Given the description of an element on the screen output the (x, y) to click on. 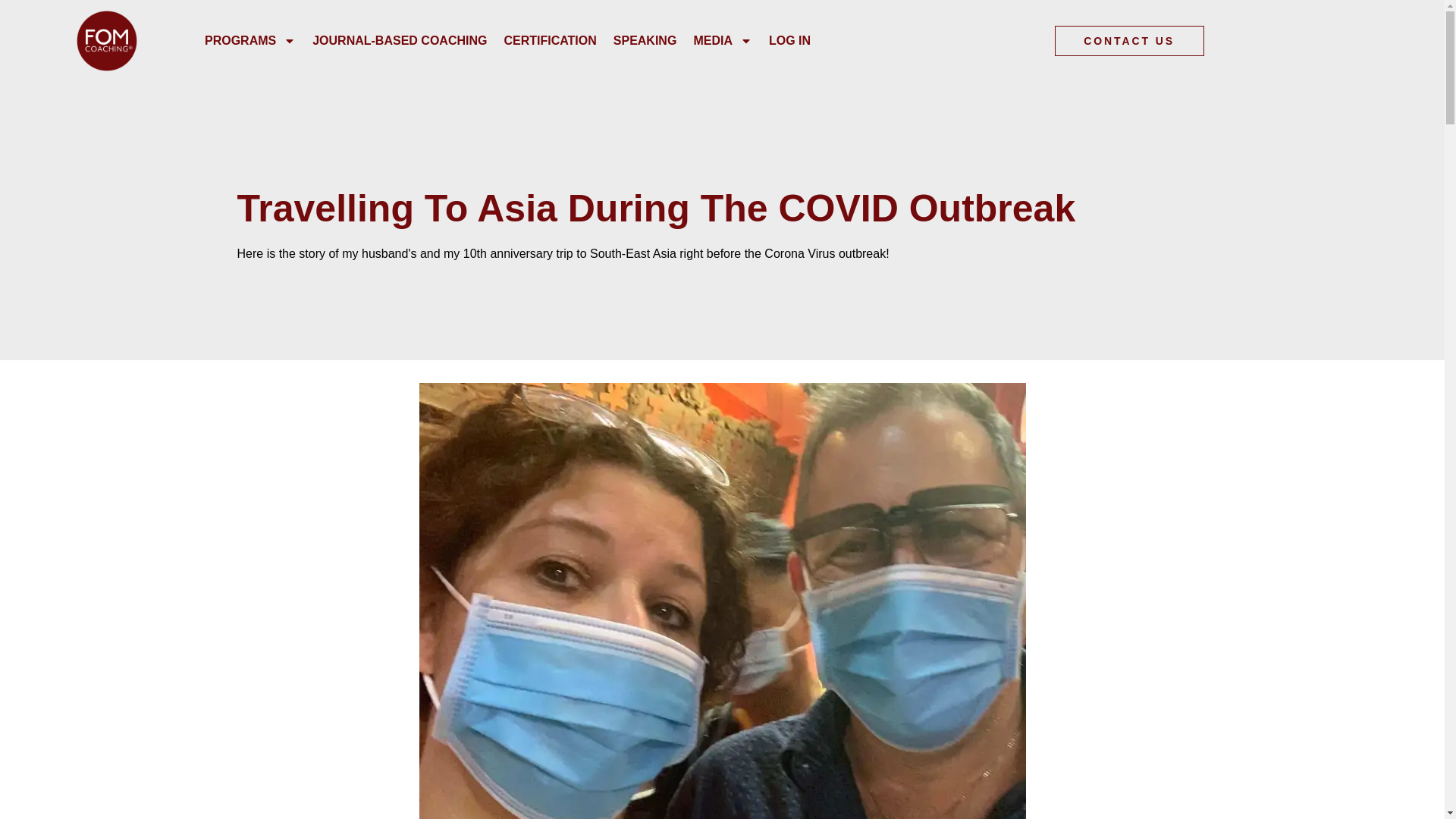
SPEAKING (644, 40)
JOURNAL-BASED COACHING (399, 40)
CERTIFICATION (549, 40)
CONTACT US (1129, 40)
PROGRAMS (250, 40)
LOG IN (789, 40)
MEDIA (722, 40)
